Given the description of an element on the screen output the (x, y) to click on. 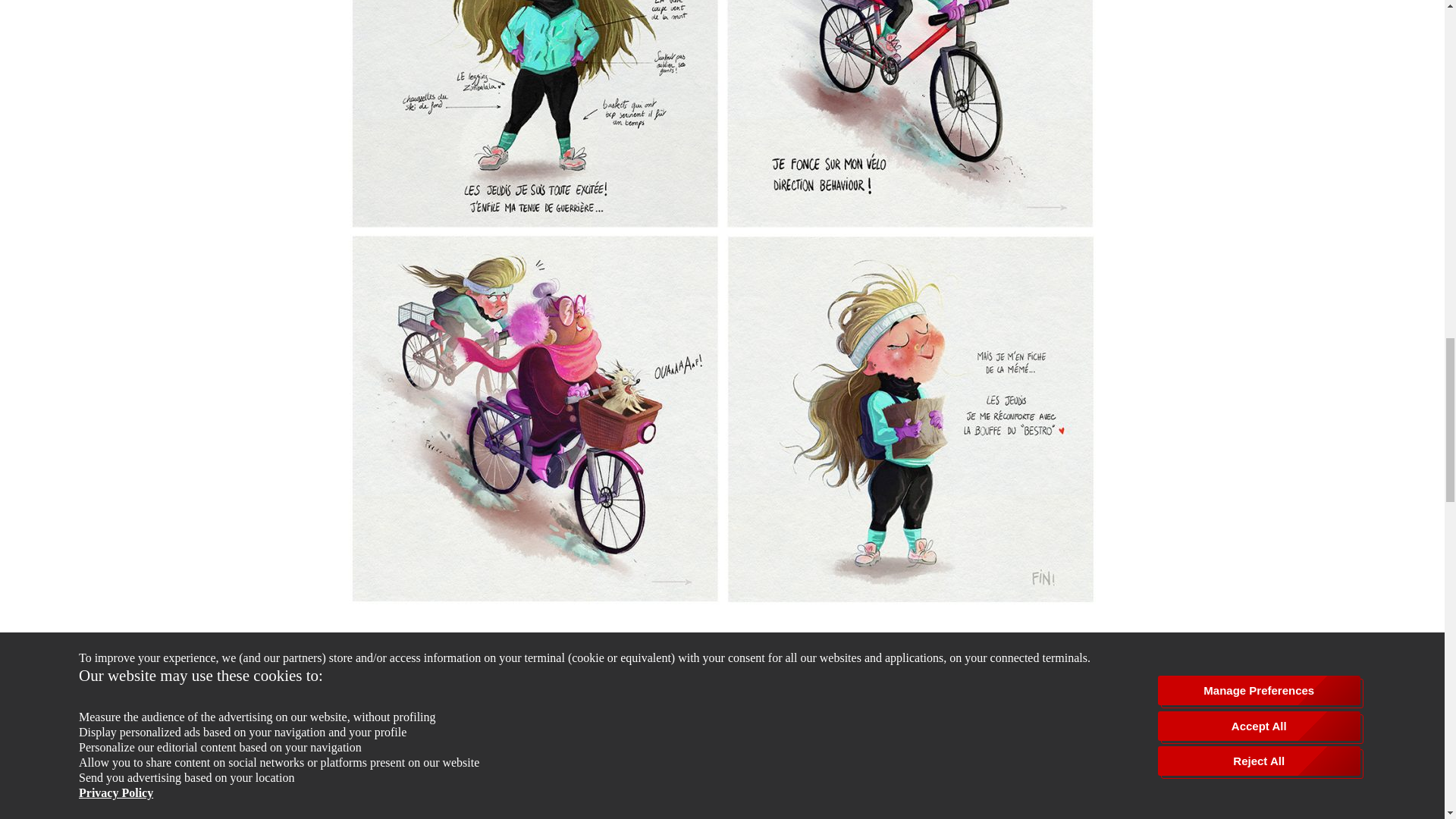
Inktober challenge (576, 665)
